Given the description of an element on the screen output the (x, y) to click on. 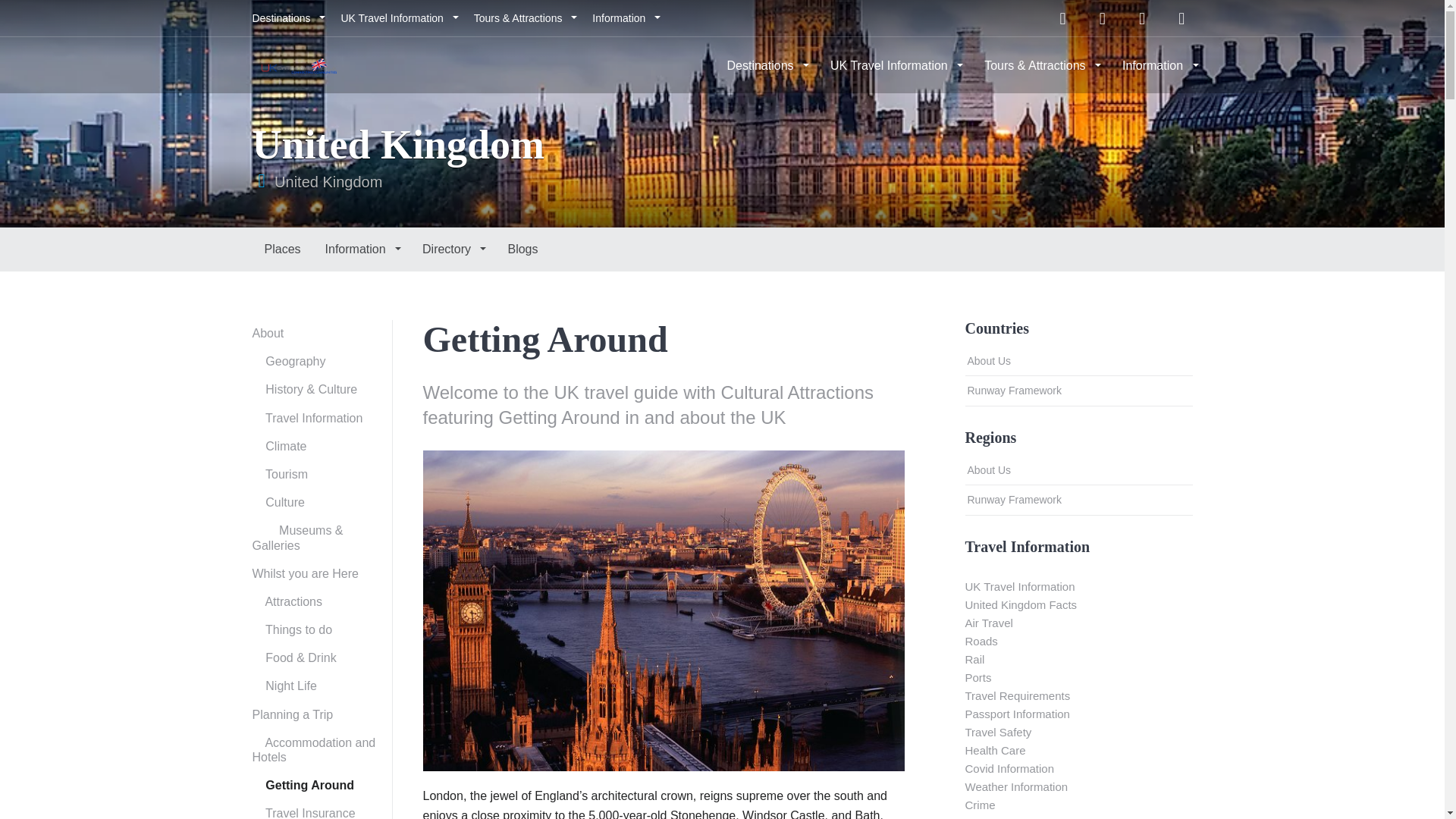
UK Travel Information (397, 18)
Destinations (287, 18)
UK on the Web (298, 63)
